Given the description of an element on the screen output the (x, y) to click on. 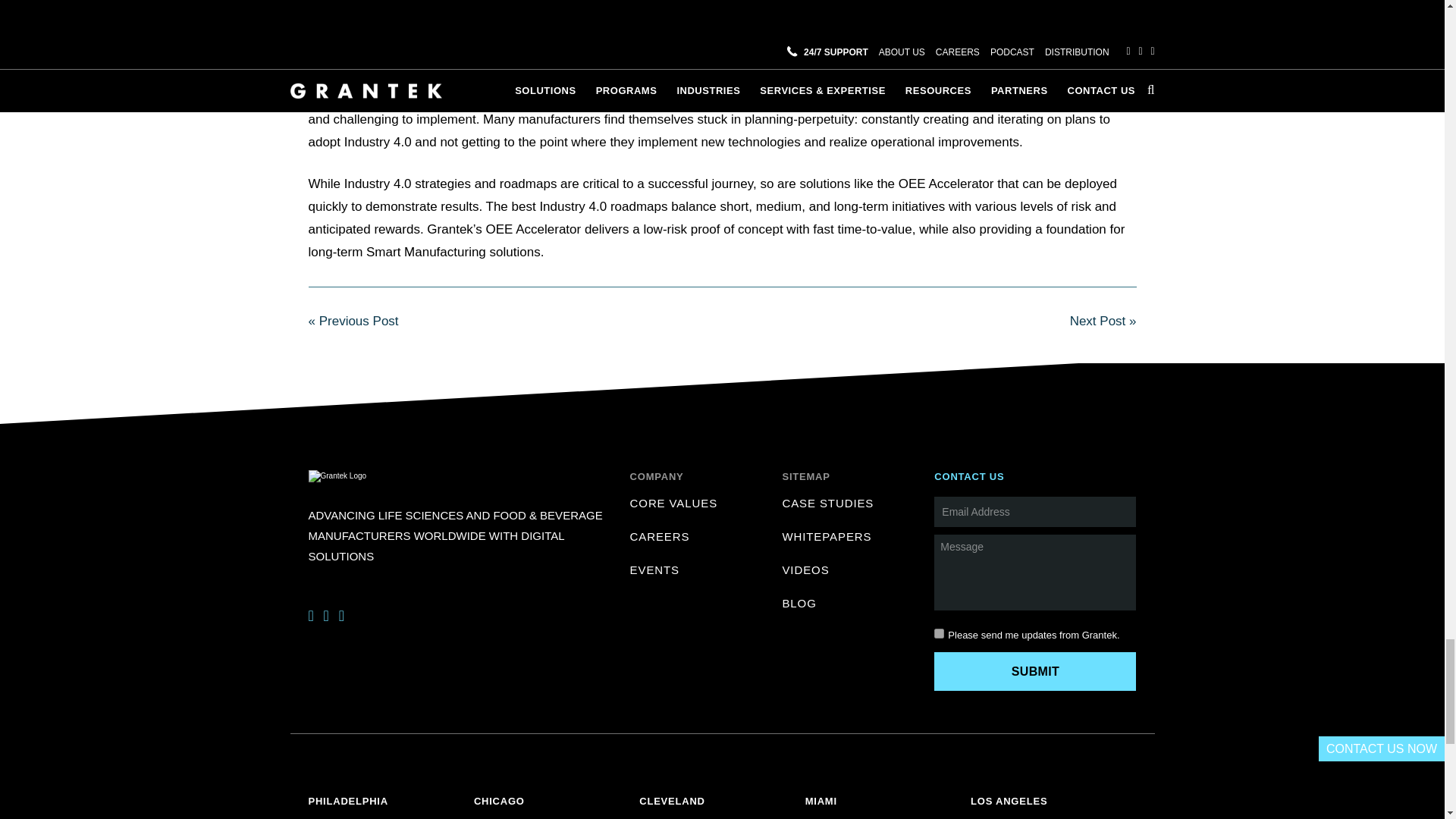
Submit (1034, 671)
1 (938, 633)
